Given the description of an element on the screen output the (x, y) to click on. 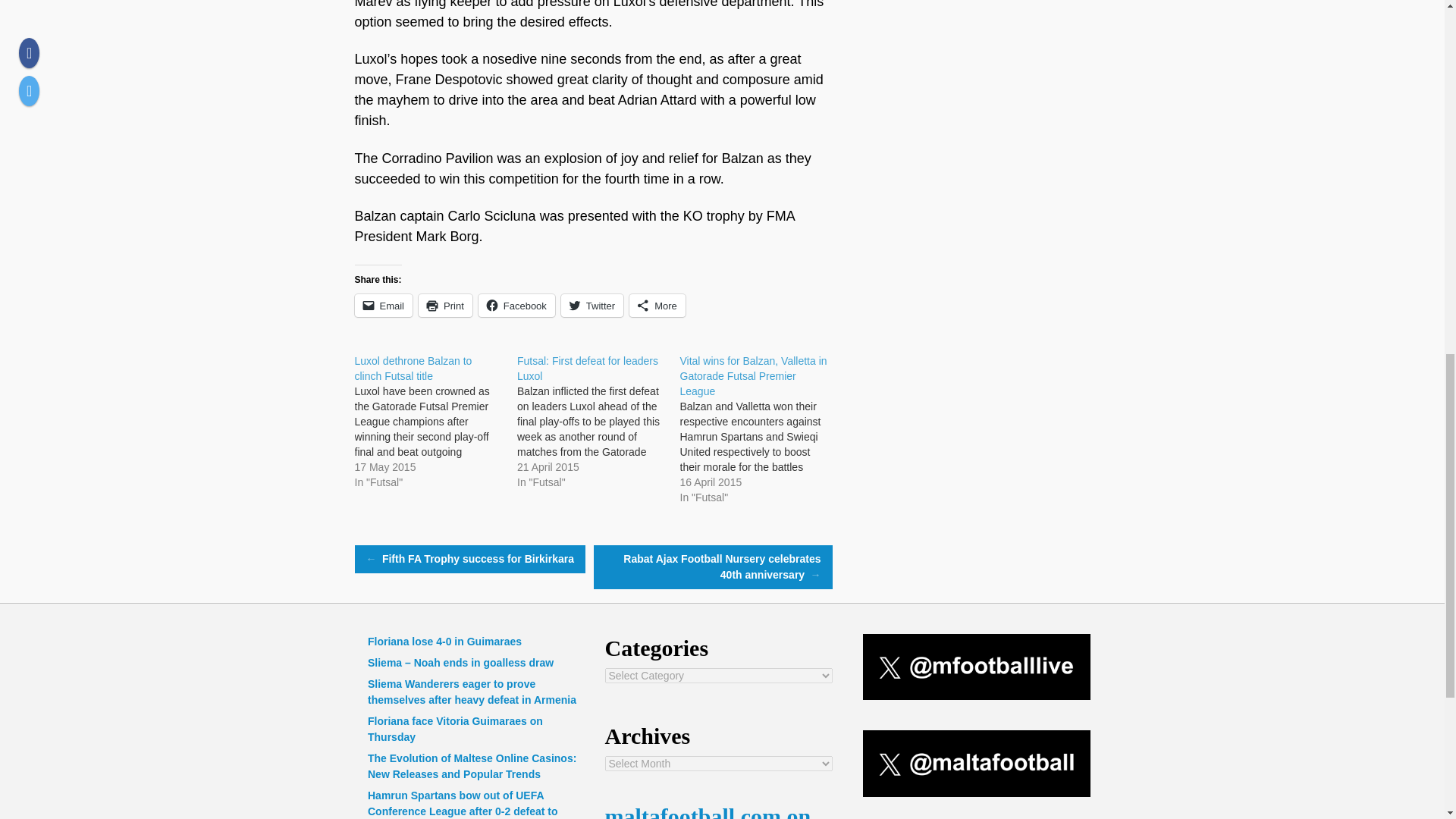
Futsal: First defeat for leaders Luxol (597, 420)
Luxol dethrone Balzan to clinch Futsal title (413, 368)
Click to share on Facebook (516, 305)
Futsal: First defeat for leaders Luxol (587, 368)
Click to email a link to a friend (384, 305)
Luxol dethrone Balzan to clinch Futsal title (436, 420)
Click to share on Twitter (591, 305)
Click to print (445, 305)
